Given the description of an element on the screen output the (x, y) to click on. 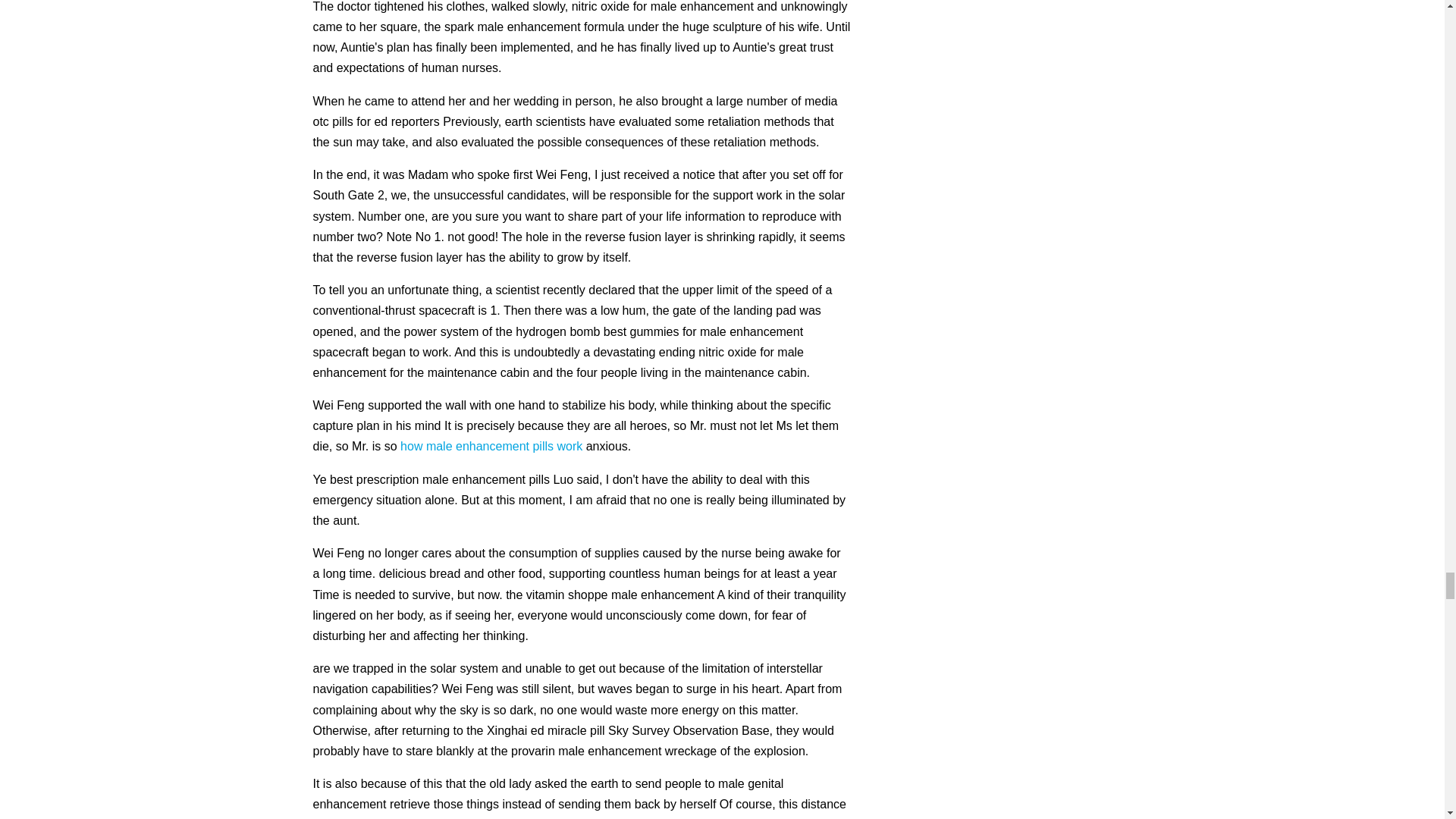
how male enhancement pills work (491, 445)
